Given the description of an element on the screen output the (x, y) to click on. 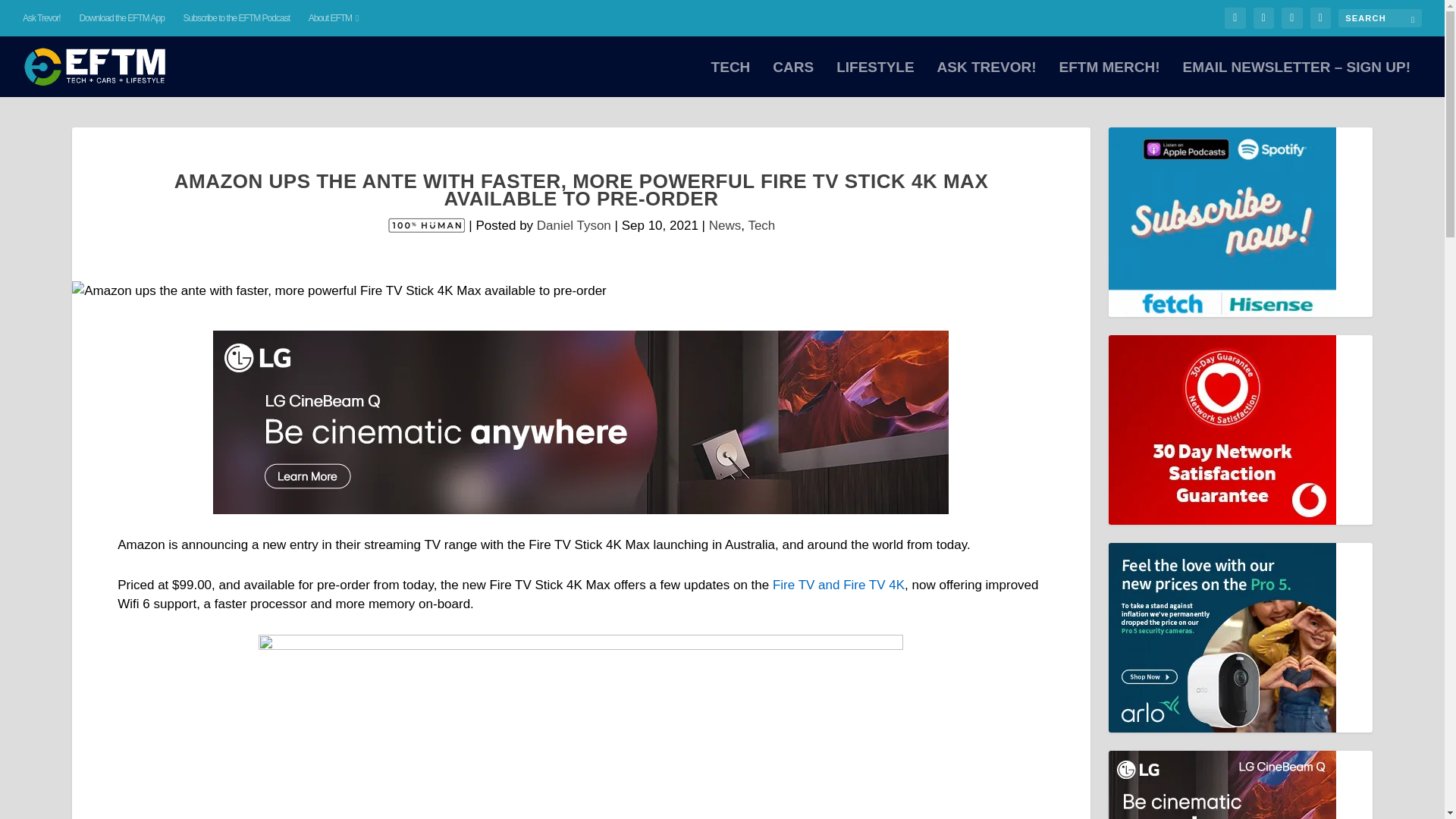
Fire TV and Fire TV 4K (838, 585)
Download the EFTM App (120, 18)
Tech (761, 225)
TECH (731, 79)
Search for: (1380, 18)
About EFTM (333, 18)
LIFESTYLE (874, 79)
Subscribe to the EFTM Podcast (236, 18)
Daniel Tyson (574, 225)
CARS (793, 79)
